Given the description of an element on the screen output the (x, y) to click on. 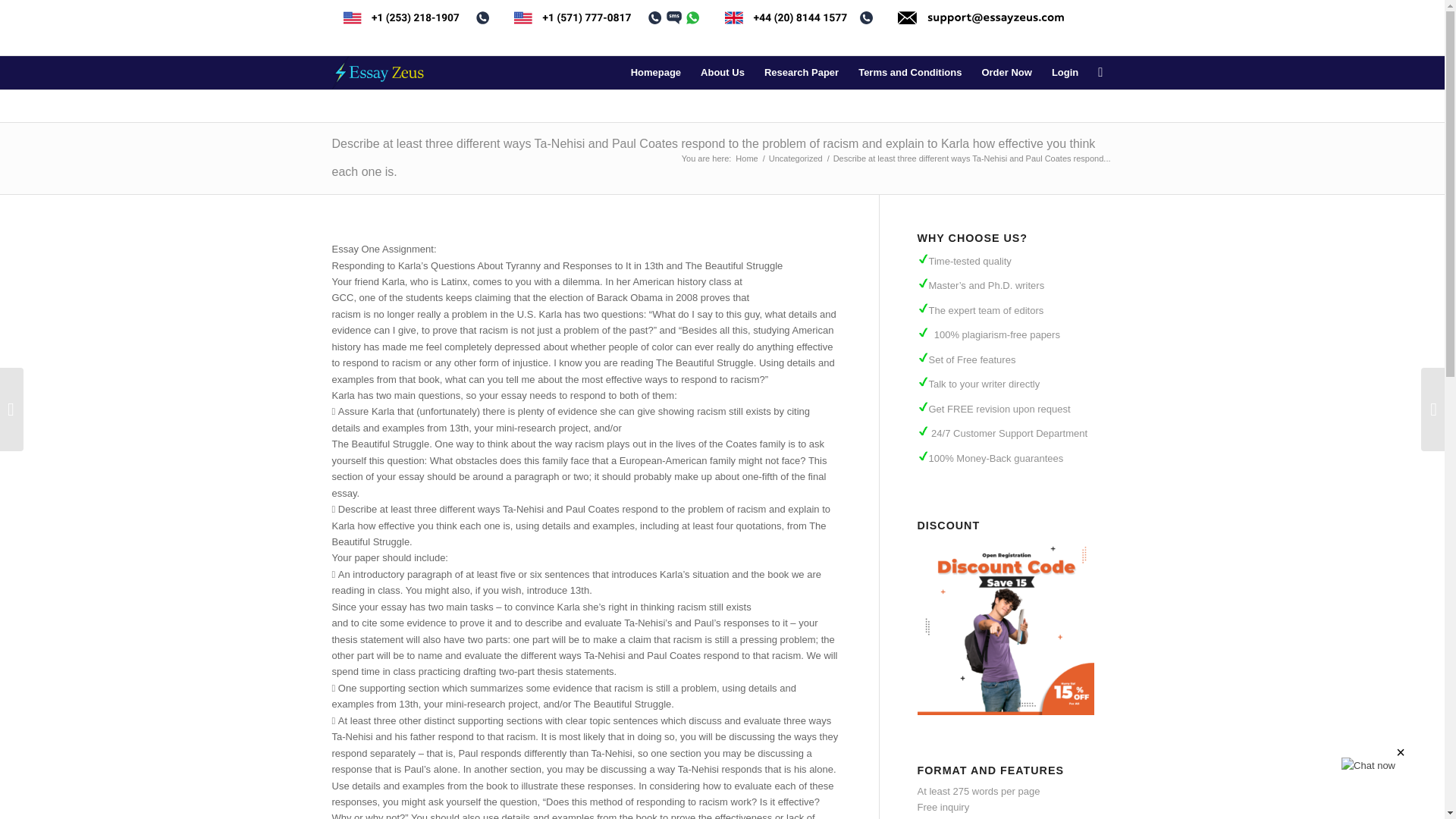
Home (746, 158)
Homepage (655, 72)
Order Now (1006, 72)
essayZeus (746, 158)
About Us (722, 72)
Terms and Conditions (909, 72)
Uncategorized (796, 158)
Research Paper (801, 72)
Login (1064, 72)
